Given the description of an element on the screen output the (x, y) to click on. 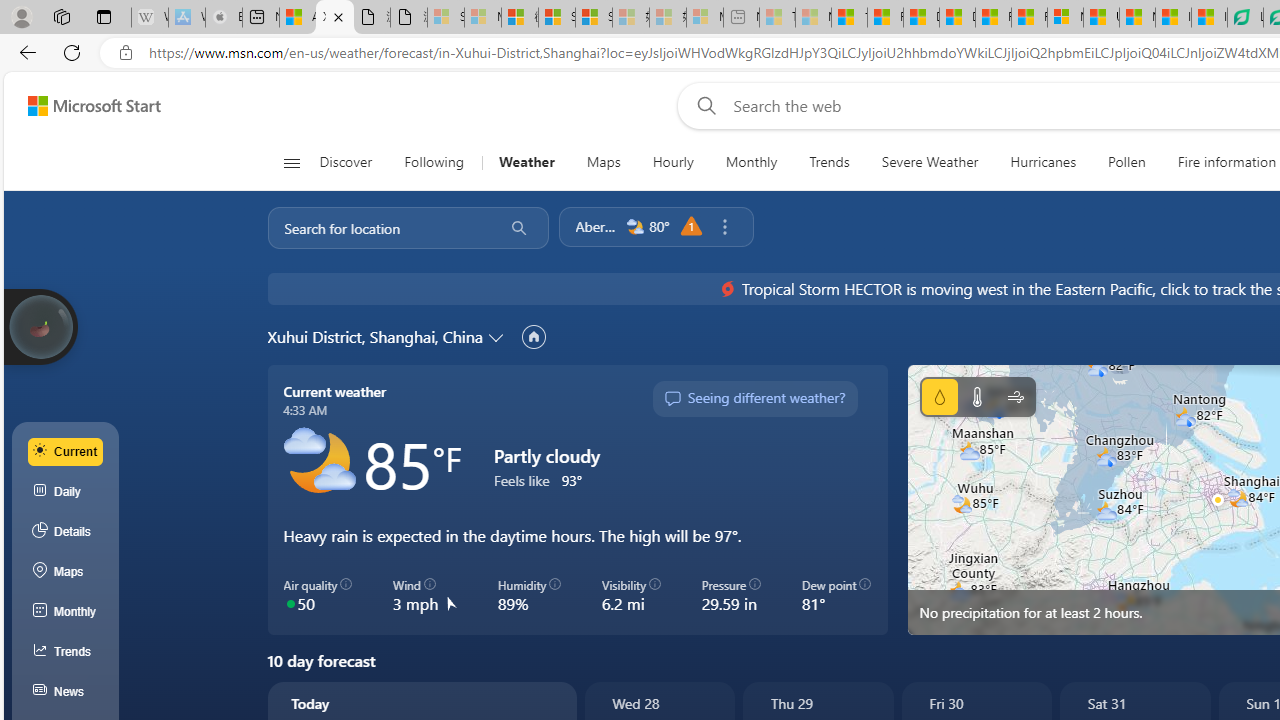
Food and Drink - MSN (884, 17)
LendingTree - Compare Lenders (1245, 17)
Monthly (65, 611)
Buy iPad - Apple - Sleeping (223, 17)
Remove location (724, 227)
Maps (603, 162)
Skip to content (86, 105)
Hourly (673, 162)
Class: button-glyph (290, 162)
